Given the description of an element on the screen output the (x, y) to click on. 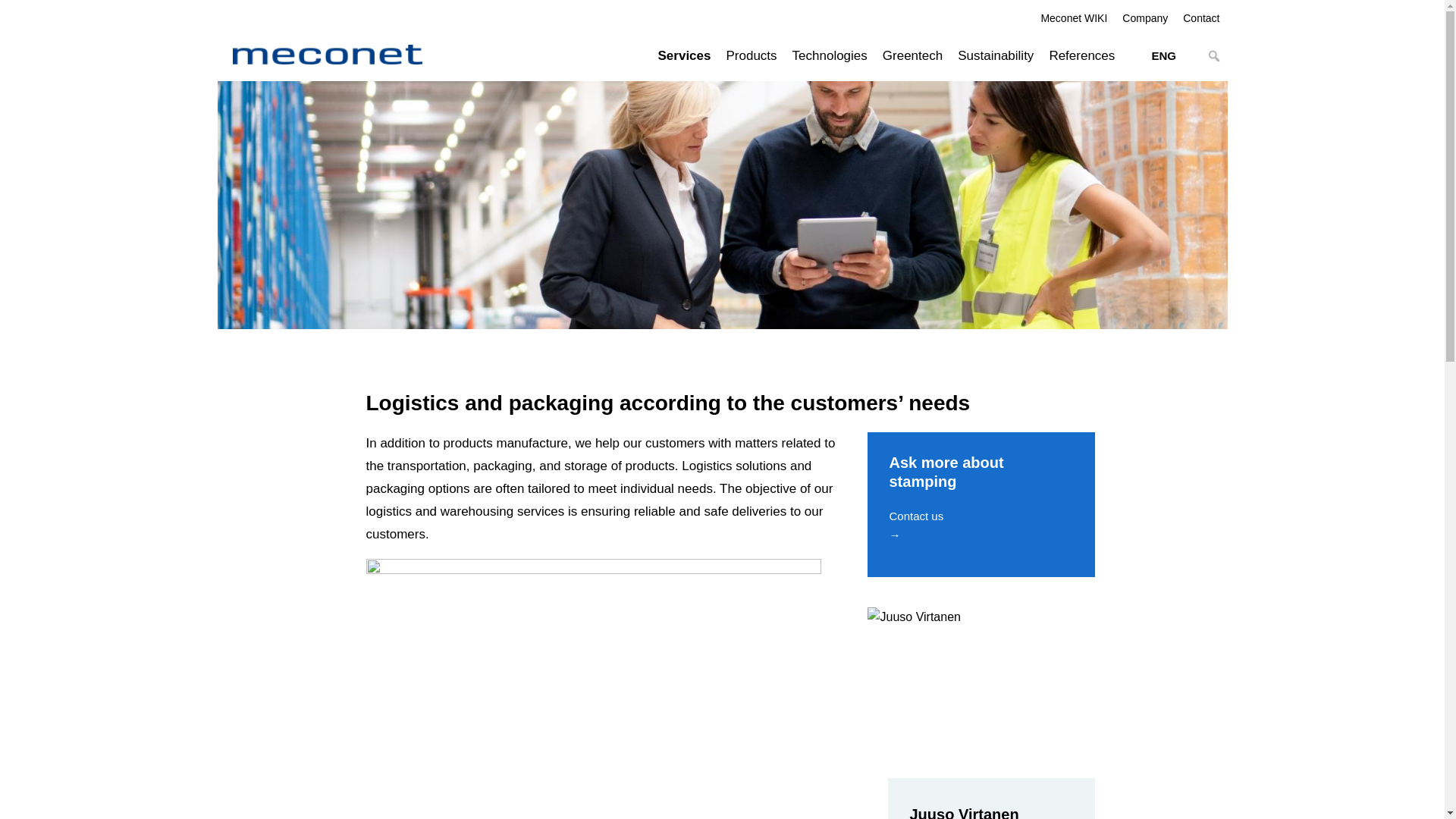
Services (684, 55)
Products (750, 55)
Company (1144, 15)
Meconet WIKI (1073, 15)
Contact (1200, 15)
